Given the description of an element on the screen output the (x, y) to click on. 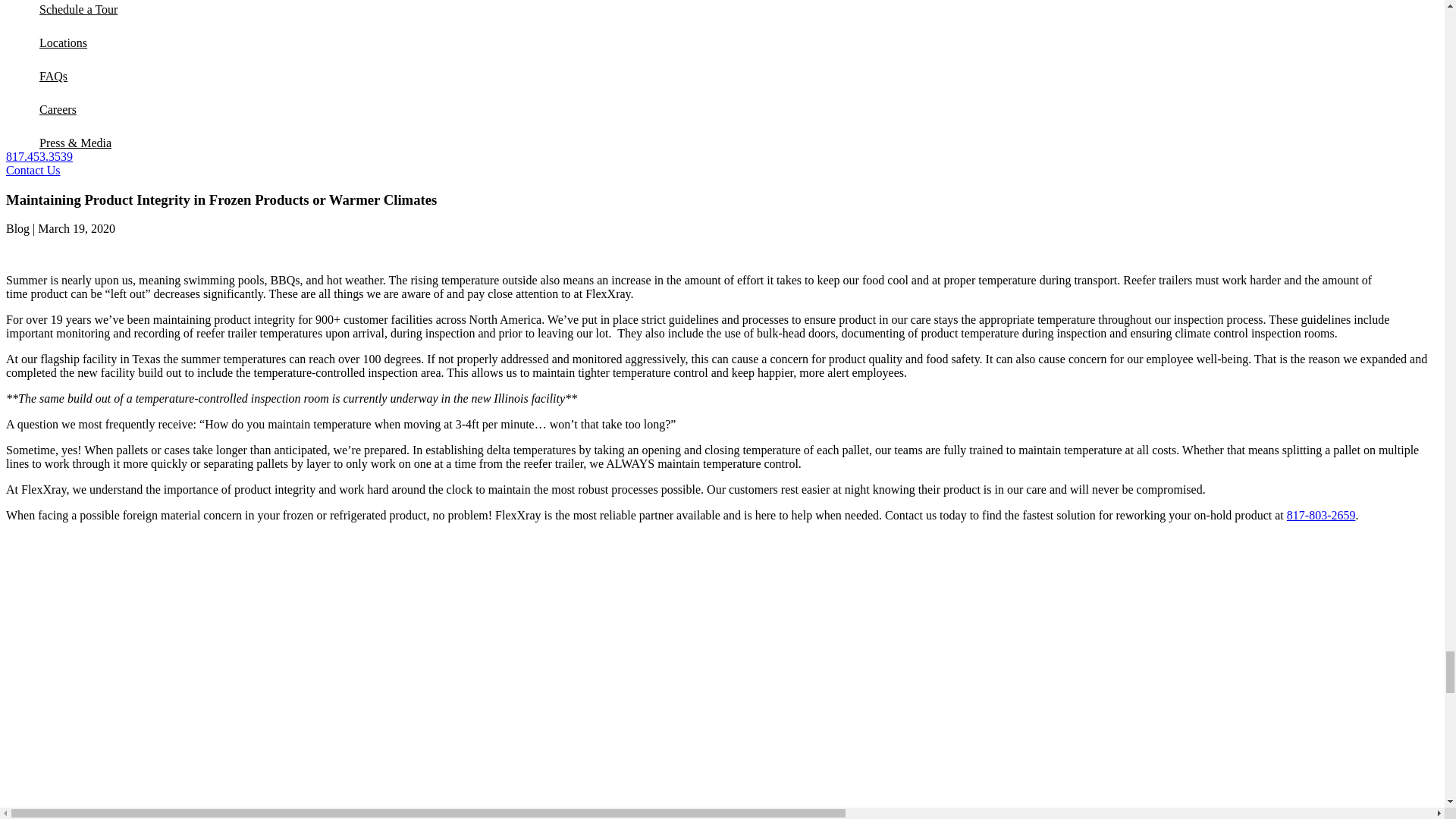
Share on LinkedIn (52, 254)
